Given the description of an element on the screen output the (x, y) to click on. 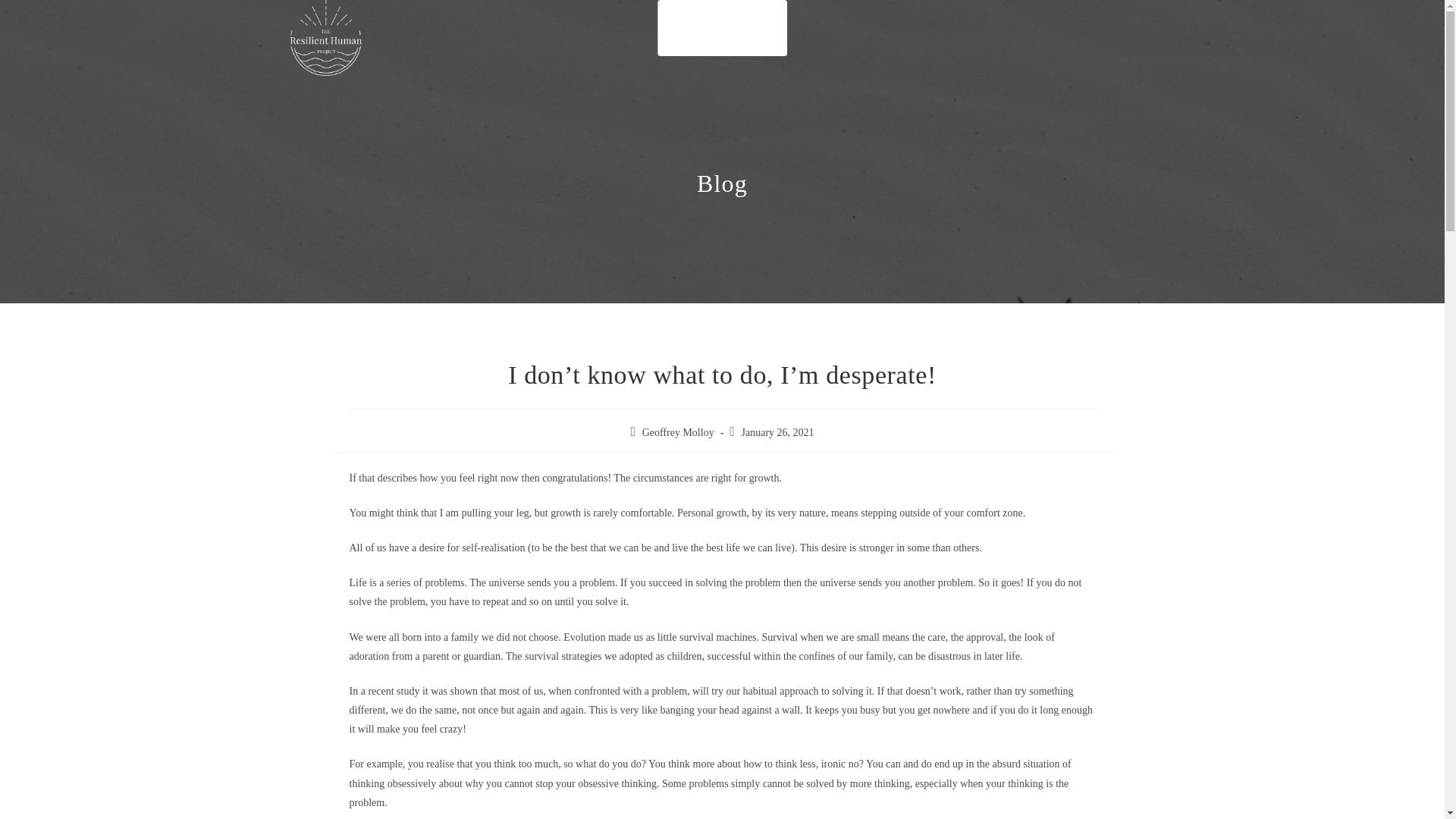
Geoffrey Molloy (678, 432)
OUR BLOG (748, 28)
Posts by Geoffrey Molloy (678, 432)
HOME (684, 28)
